Given the description of an element on the screen output the (x, y) to click on. 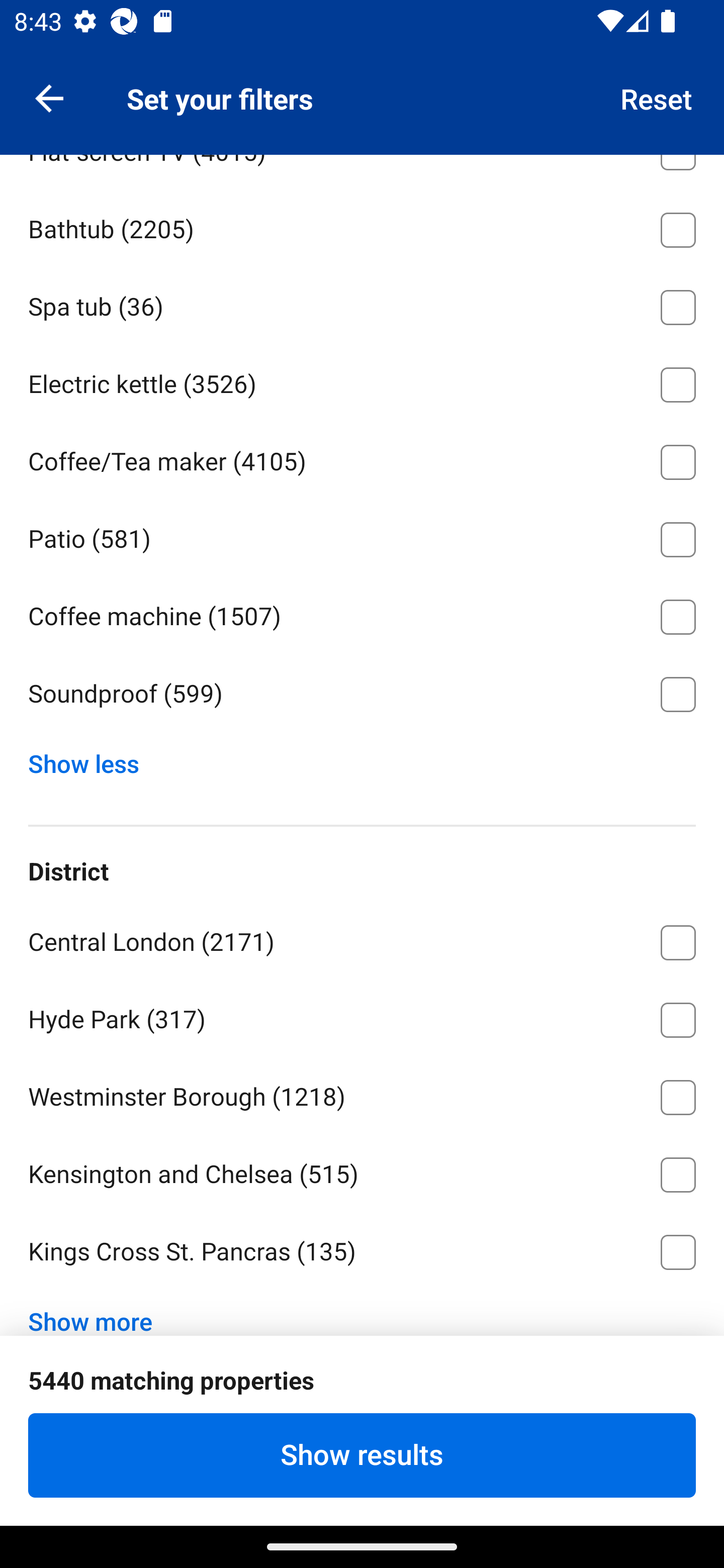
View ⁦(1636) (361, 71)
Navigate up (49, 97)
Reset (656, 97)
Bathtub ⁦(2205) (361, 226)
Spa tub ⁦(36) (361, 303)
Electric kettle ⁦(3526) (361, 381)
Coffee/Tea maker ⁦(4105) (361, 458)
Patio ⁦(581) (361, 536)
Coffee machine ⁦(1507) (361, 613)
Soundproof ⁦(599) (361, 694)
Show less (90, 759)
Central London ⁦(2171) (361, 939)
Hyde Park ⁦(317) (361, 1016)
Westminster Borough ⁦(1218) (361, 1093)
Kensington and Chelsea ⁦(515) (361, 1171)
Kings Cross St. Pancras ⁦(135) (361, 1252)
Show more (97, 1308)
Show results (361, 1454)
